Given the description of an element on the screen output the (x, y) to click on. 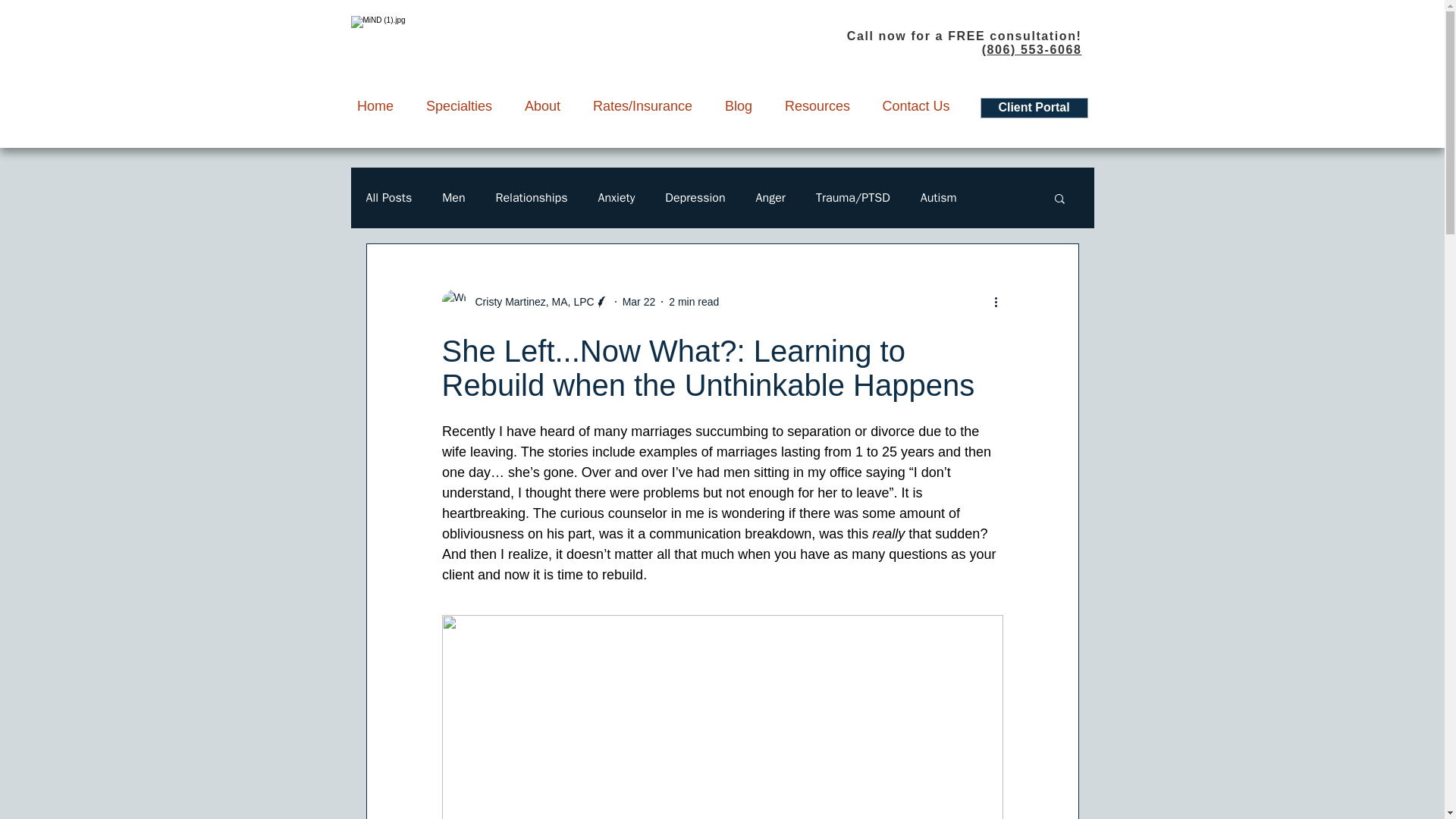
Blog (737, 106)
Autism (938, 197)
Cristy Martinez, MA, LPC (529, 302)
Cristy Martinez, MA, LPC (524, 301)
All Posts (388, 197)
Anger (770, 197)
Contact Us (915, 106)
Client Portal (1033, 107)
Anxiety (615, 197)
Men (453, 197)
